Given the description of an element on the screen output the (x, y) to click on. 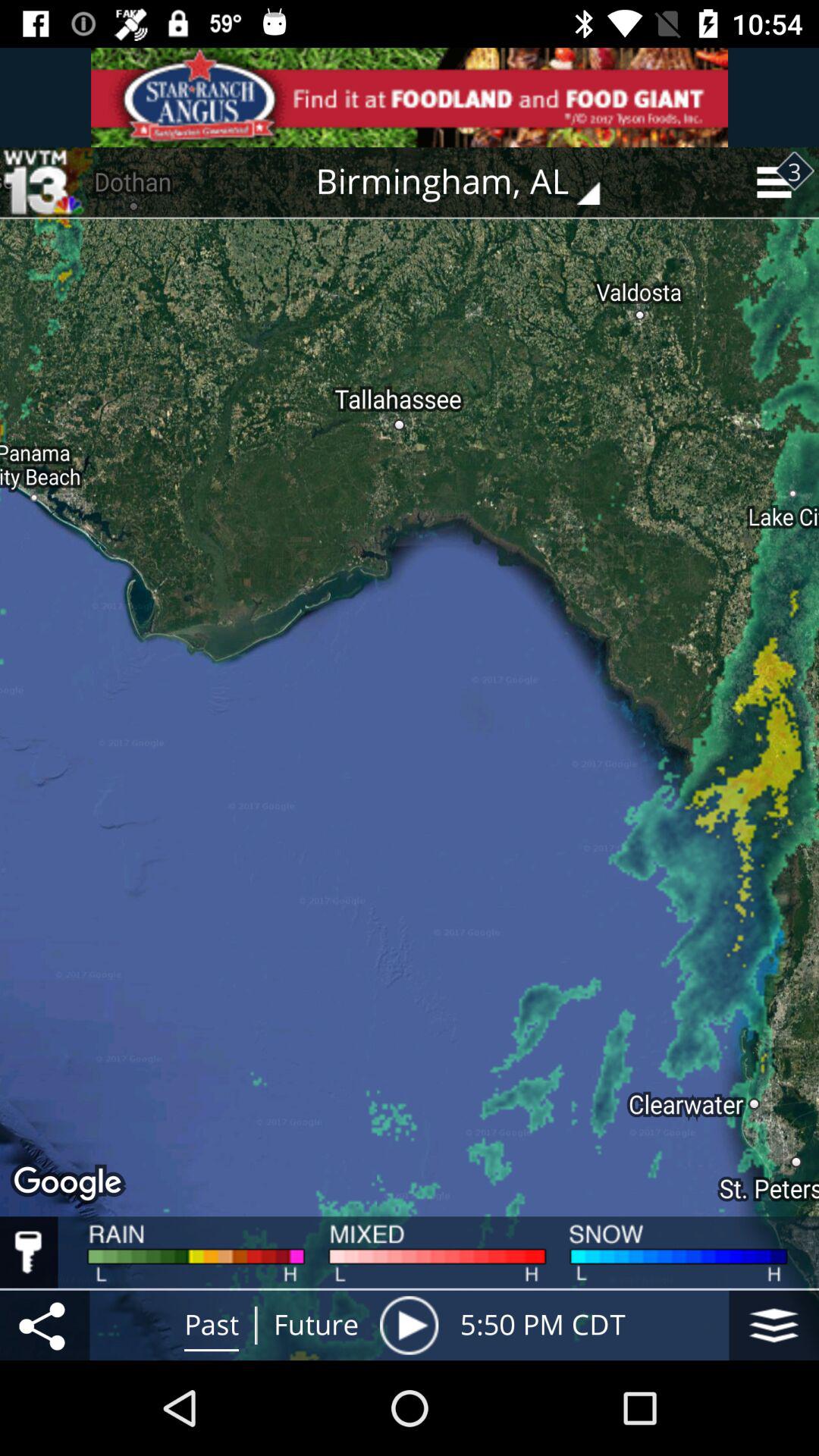
open advertisement (409, 97)
